Given the description of an element on the screen output the (x, y) to click on. 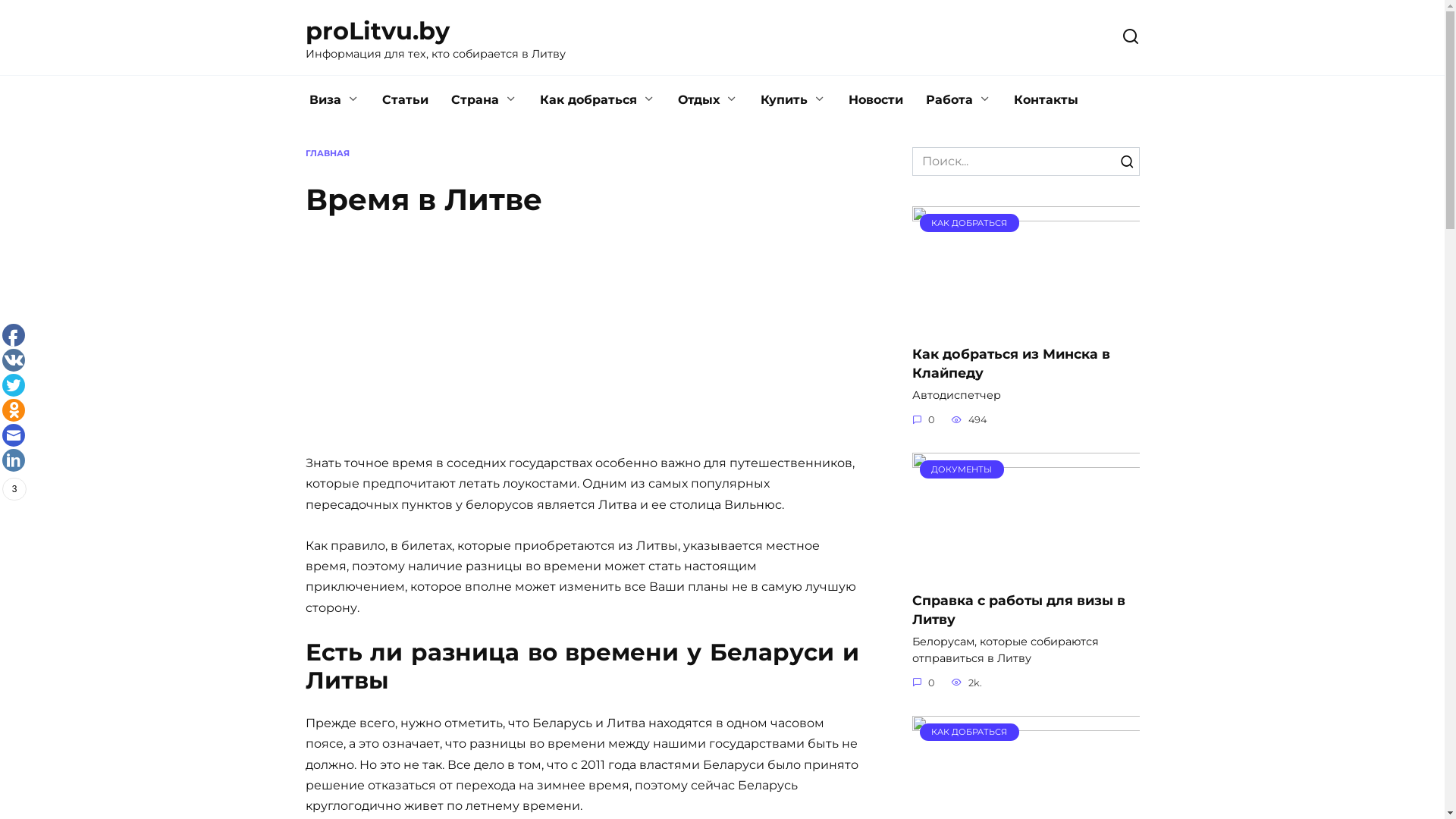
proLitvu.by Element type: text (376, 30)
Advertisement Element type: hover (581, 340)
